Given the description of an element on the screen output the (x, y) to click on. 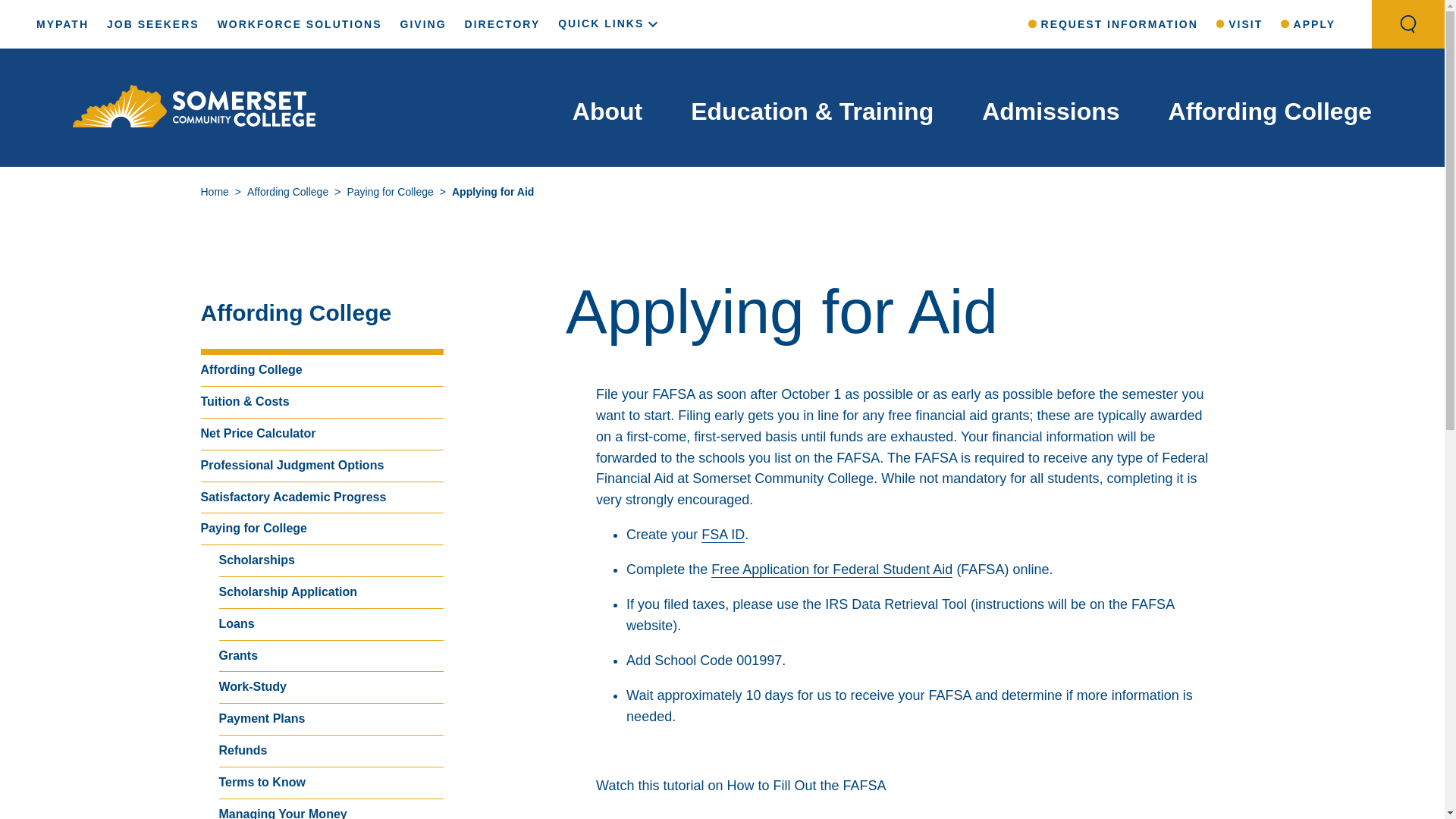
DIRECTORY (502, 23)
JOB SEEKERS (152, 23)
MYPATH (62, 23)
WORKFORCE SOLUTIONS (298, 23)
VISIT (1238, 24)
FAFSA overview video (903, 814)
APPLY (1308, 24)
QUICK LINKS (609, 22)
REQUEST INFORMATION (1112, 24)
GIVING (423, 23)
